Given the description of an element on the screen output the (x, y) to click on. 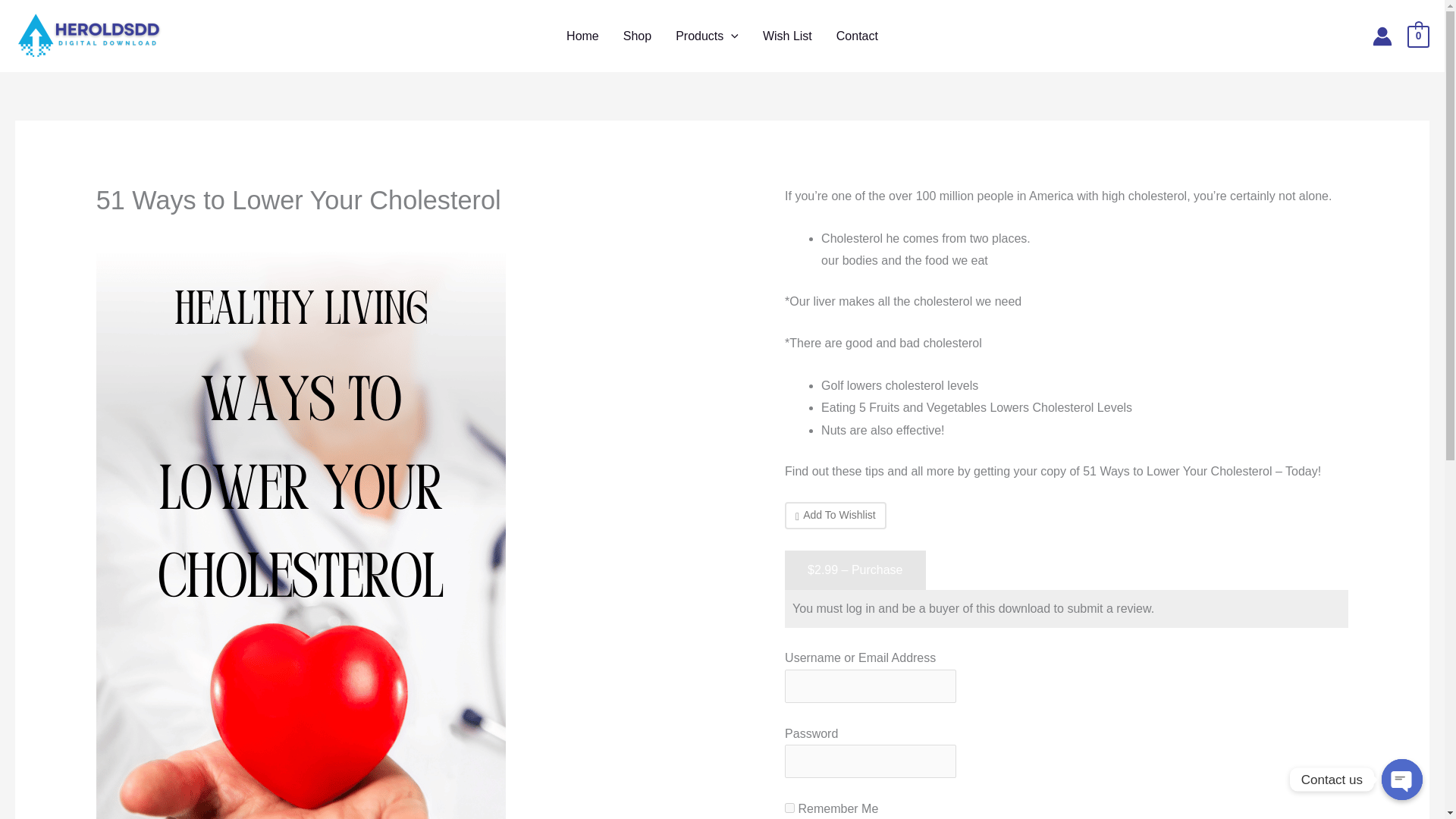
View your shopping cart (1418, 34)
forever (789, 808)
Shop (637, 35)
Contact (856, 35)
Add To Wishlist (835, 515)
Home (582, 35)
Products (707, 35)
Wish List (787, 35)
0 (1418, 34)
